Given the description of an element on the screen output the (x, y) to click on. 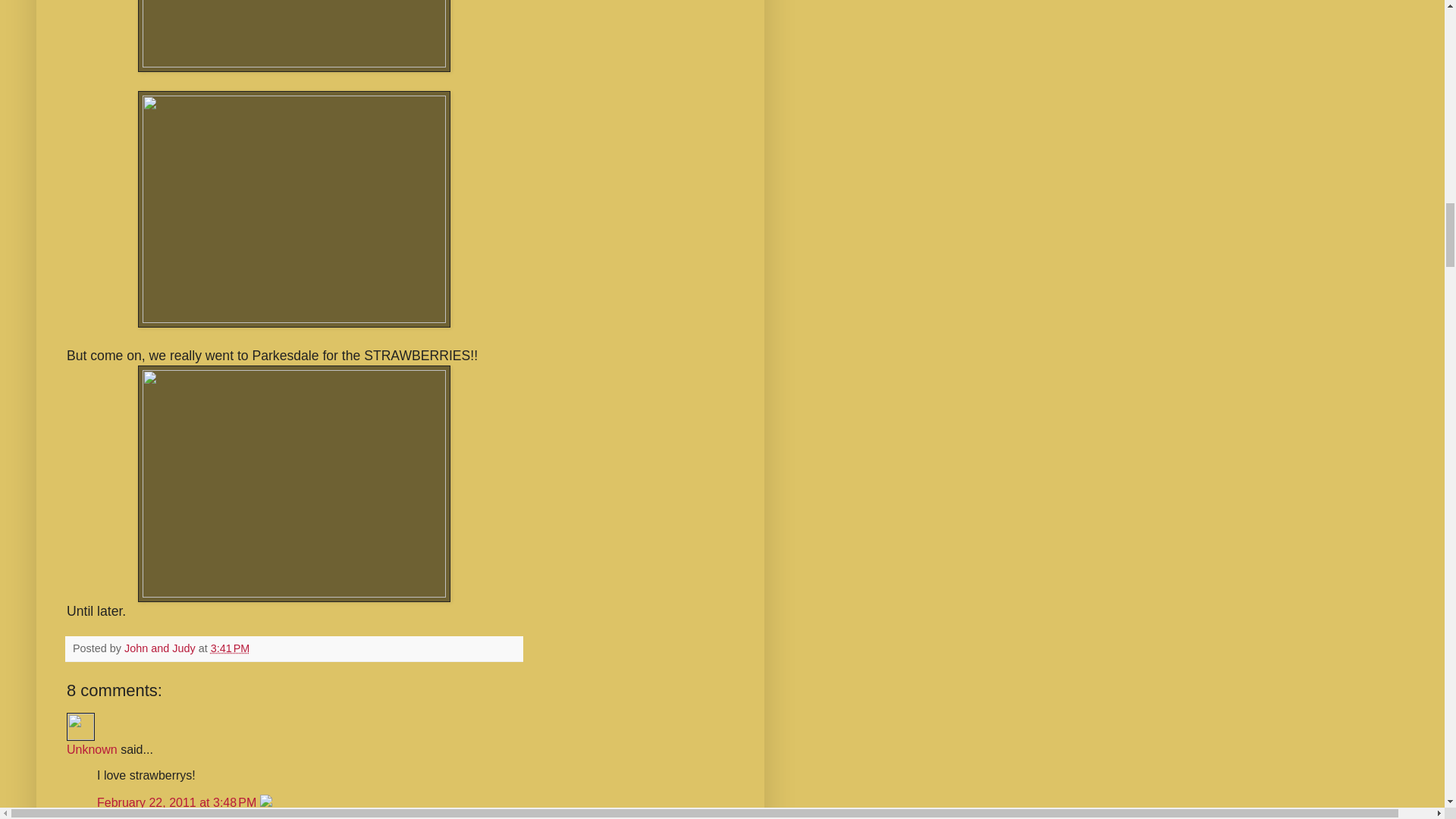
John and Judy (160, 648)
permanent link (230, 648)
Unknown (80, 726)
Unknown (91, 748)
author profile (160, 648)
comment permalink (178, 802)
Email Post (258, 648)
Delete Comment (266, 802)
